Given the description of an element on the screen output the (x, y) to click on. 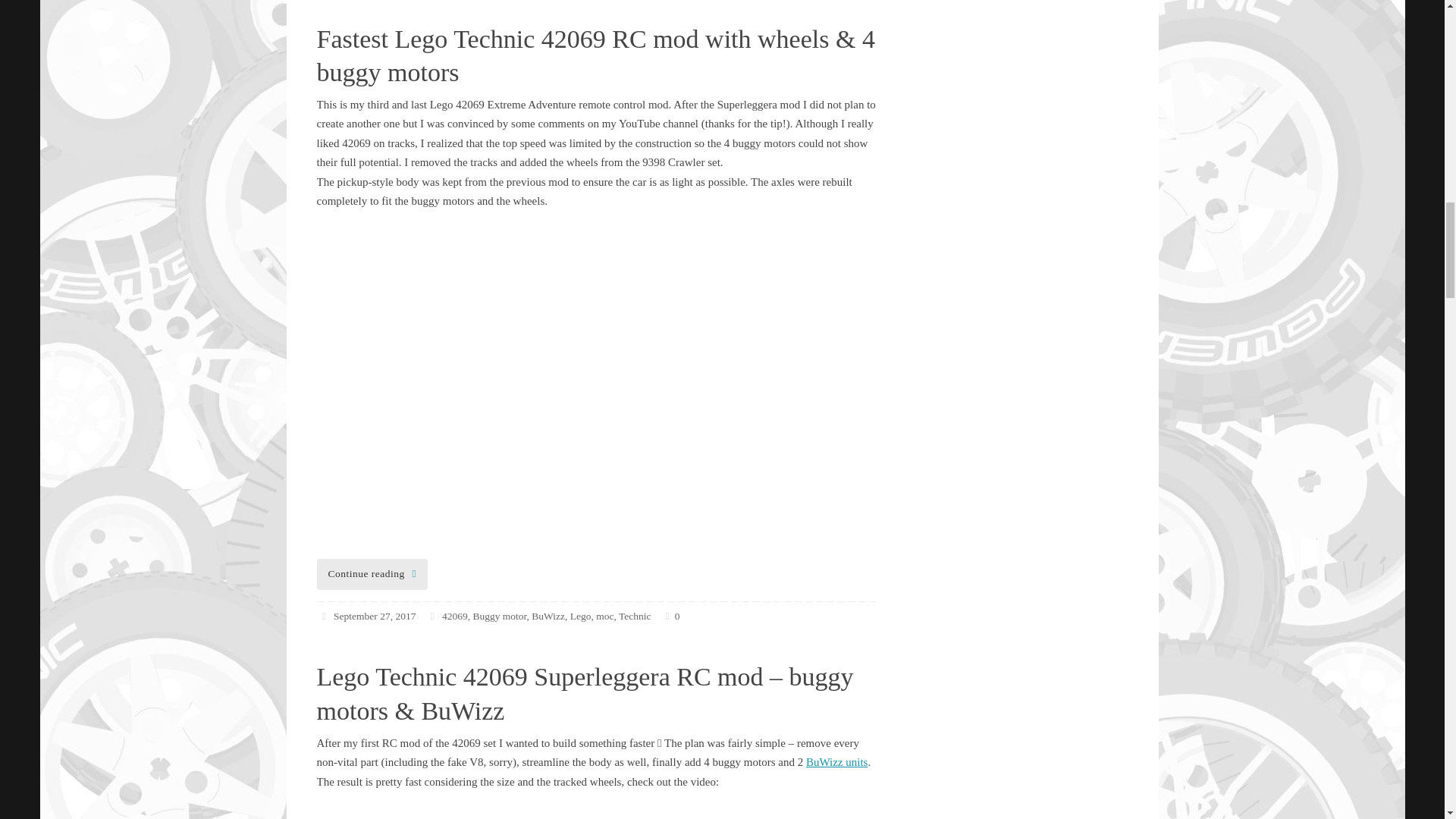
Date (324, 615)
Tags (433, 615)
